Given the description of an element on the screen output the (x, y) to click on. 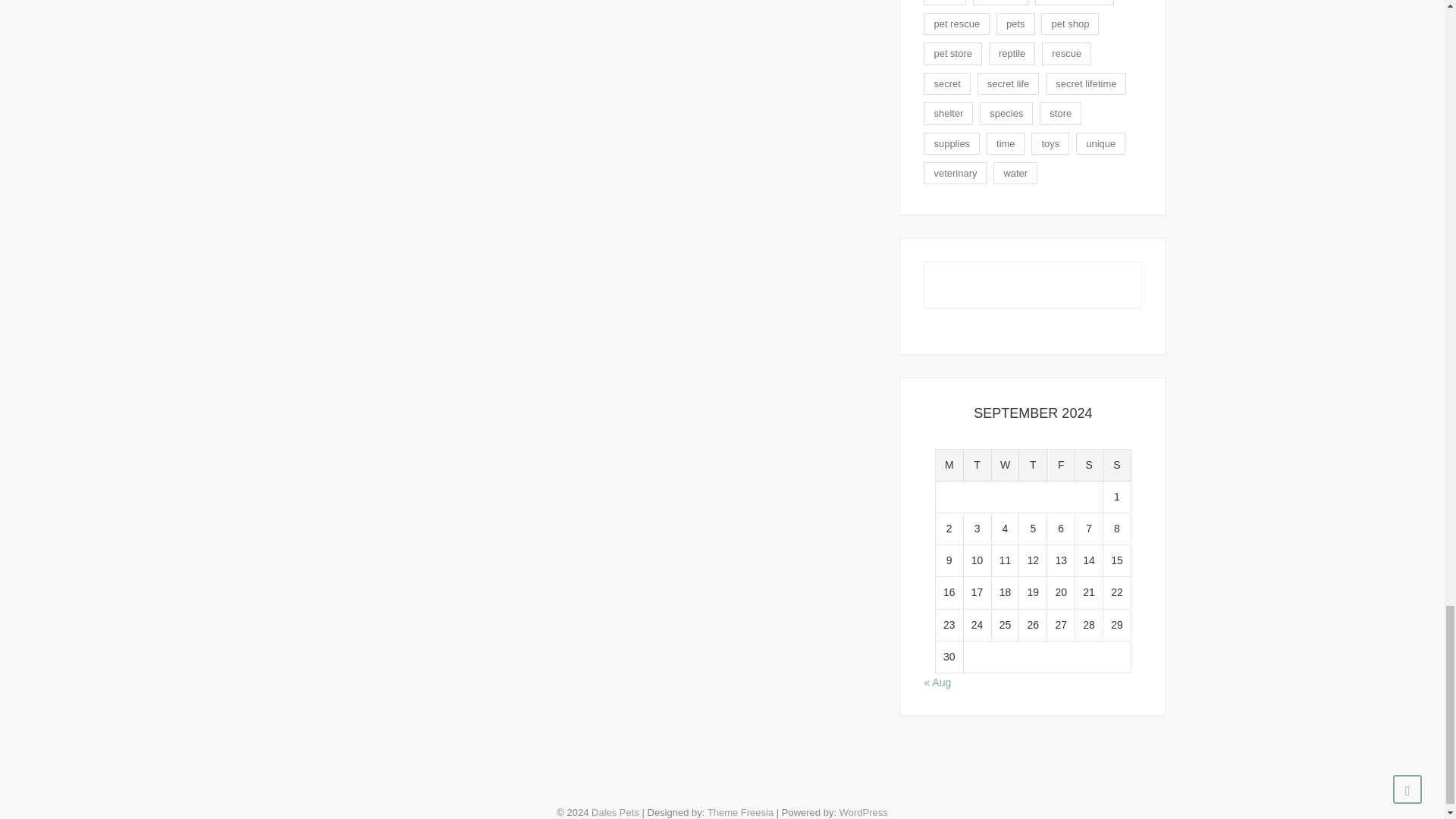
WordPress (864, 812)
Theme Freesia (740, 812)
Dales Pets (615, 812)
